Given the description of an element on the screen output the (x, y) to click on. 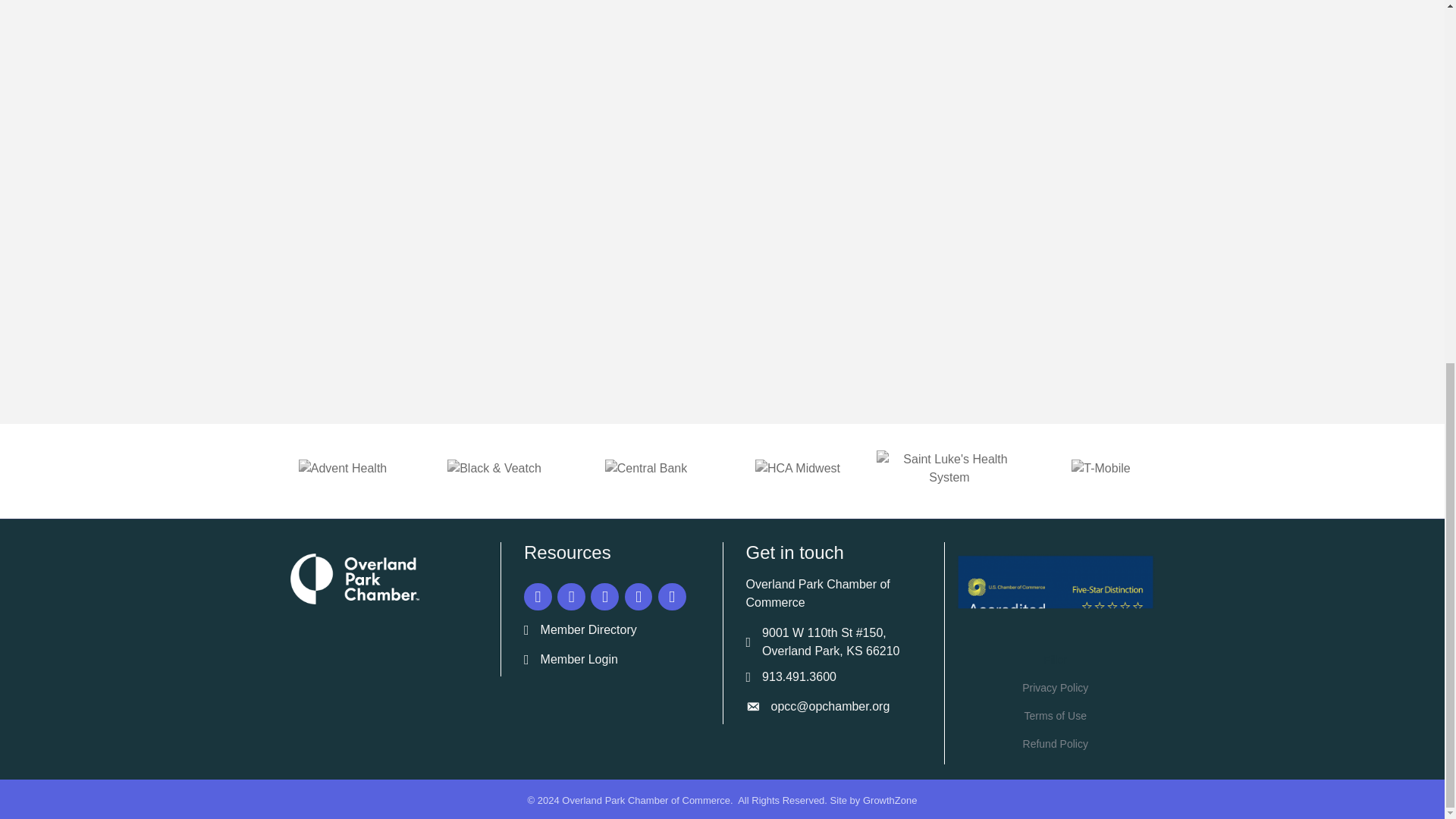
Accredited-Five-Star 500px (1055, 596)
